Given the description of an element on the screen output the (x, y) to click on. 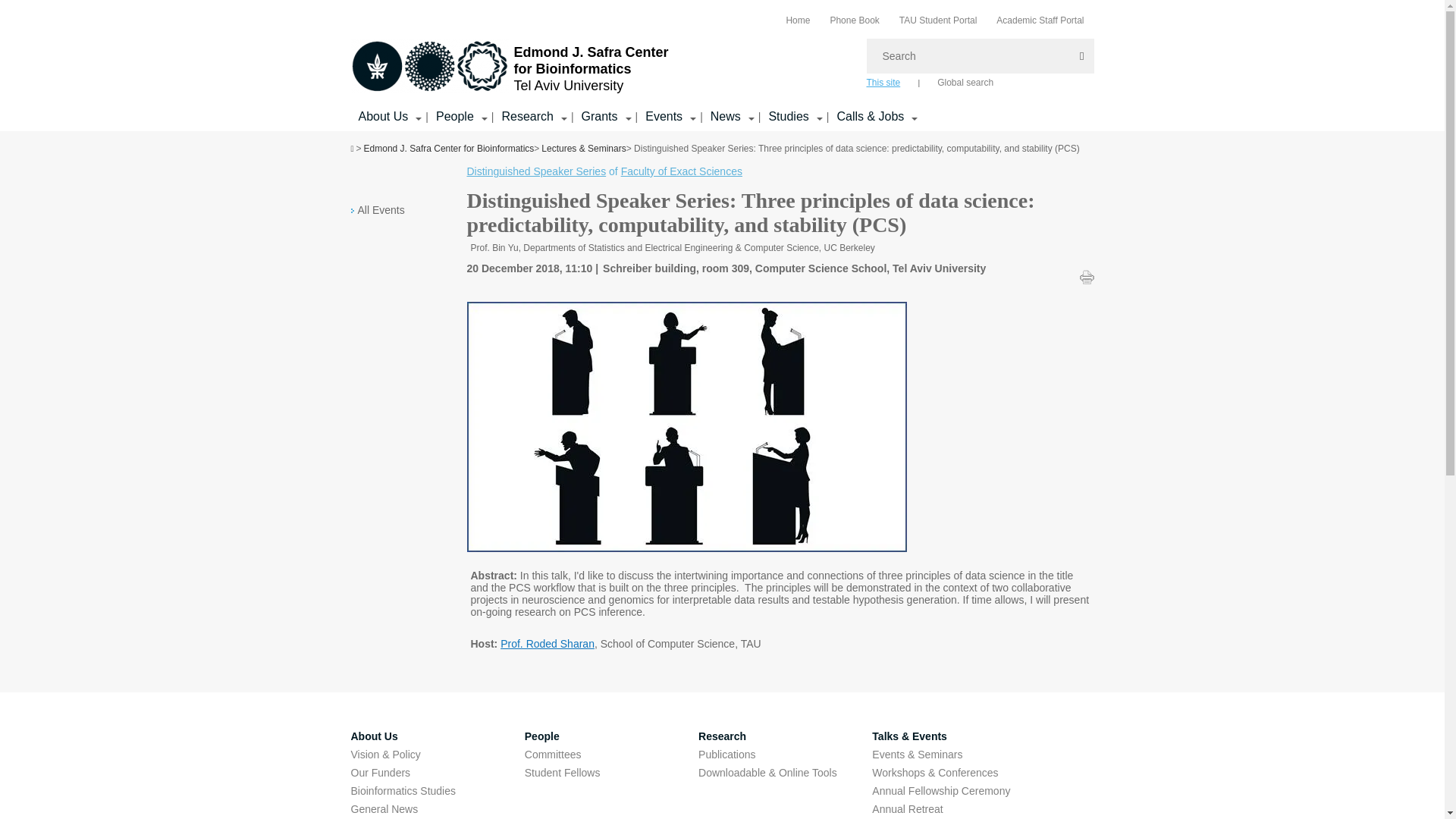
Home (797, 20)
Home (797, 20)
Go to homepage (509, 66)
Academic Staff Portal (1039, 20)
Phone Book (854, 20)
Academic Staff Portal (1039, 20)
TAU Student Portal (937, 20)
Research (526, 116)
People (454, 116)
TAU Student Portal (937, 20)
Phone Book (854, 20)
Edmond J. Safra Center for Bioinformatics (429, 65)
